Given the description of an element on the screen output the (x, y) to click on. 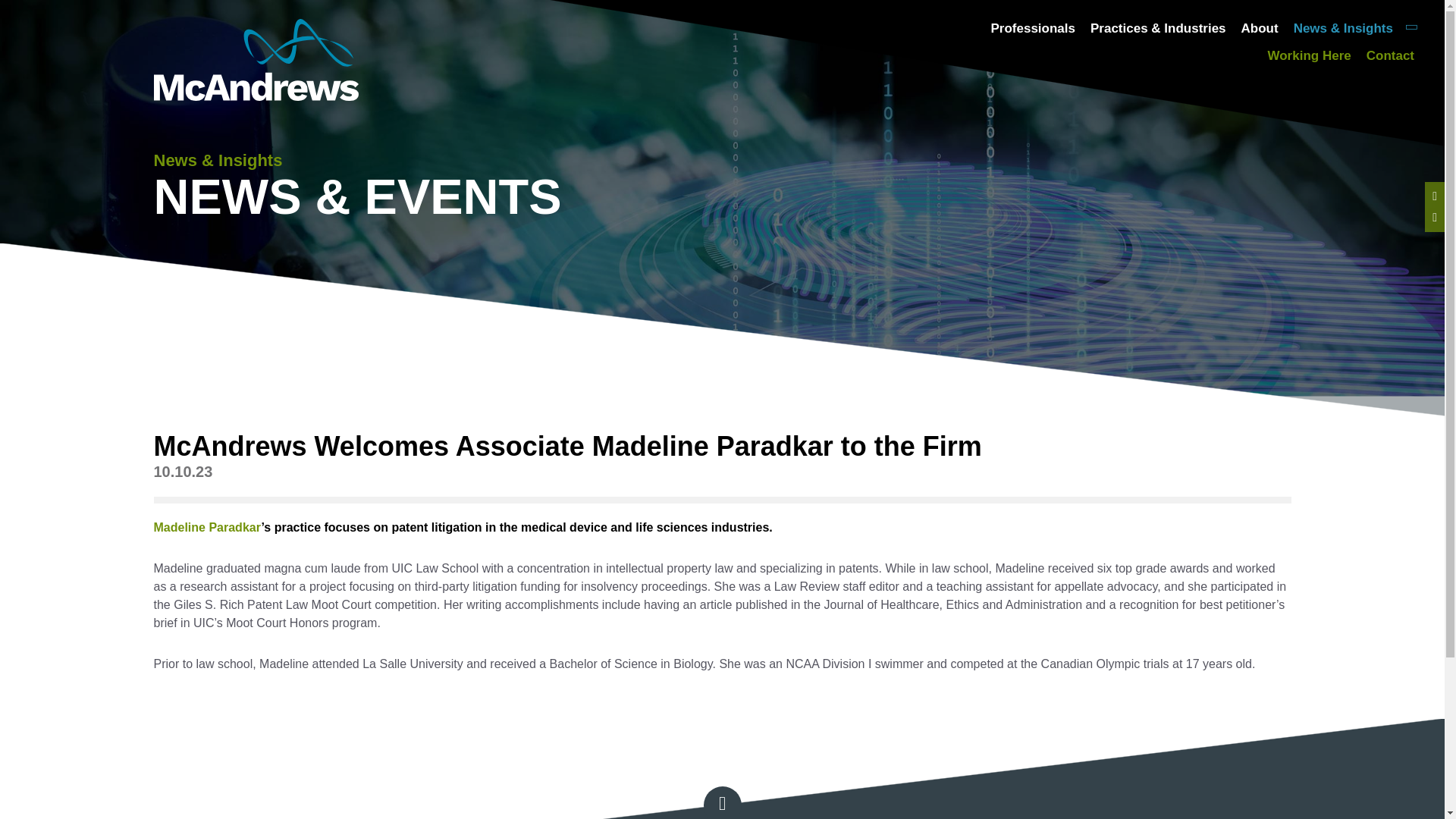
Working Here (1309, 55)
Professionals (1032, 28)
Madeline Paradkar (206, 526)
Back to top (720, 802)
Contact (1390, 55)
About (1259, 28)
